Given the description of an element on the screen output the (x, y) to click on. 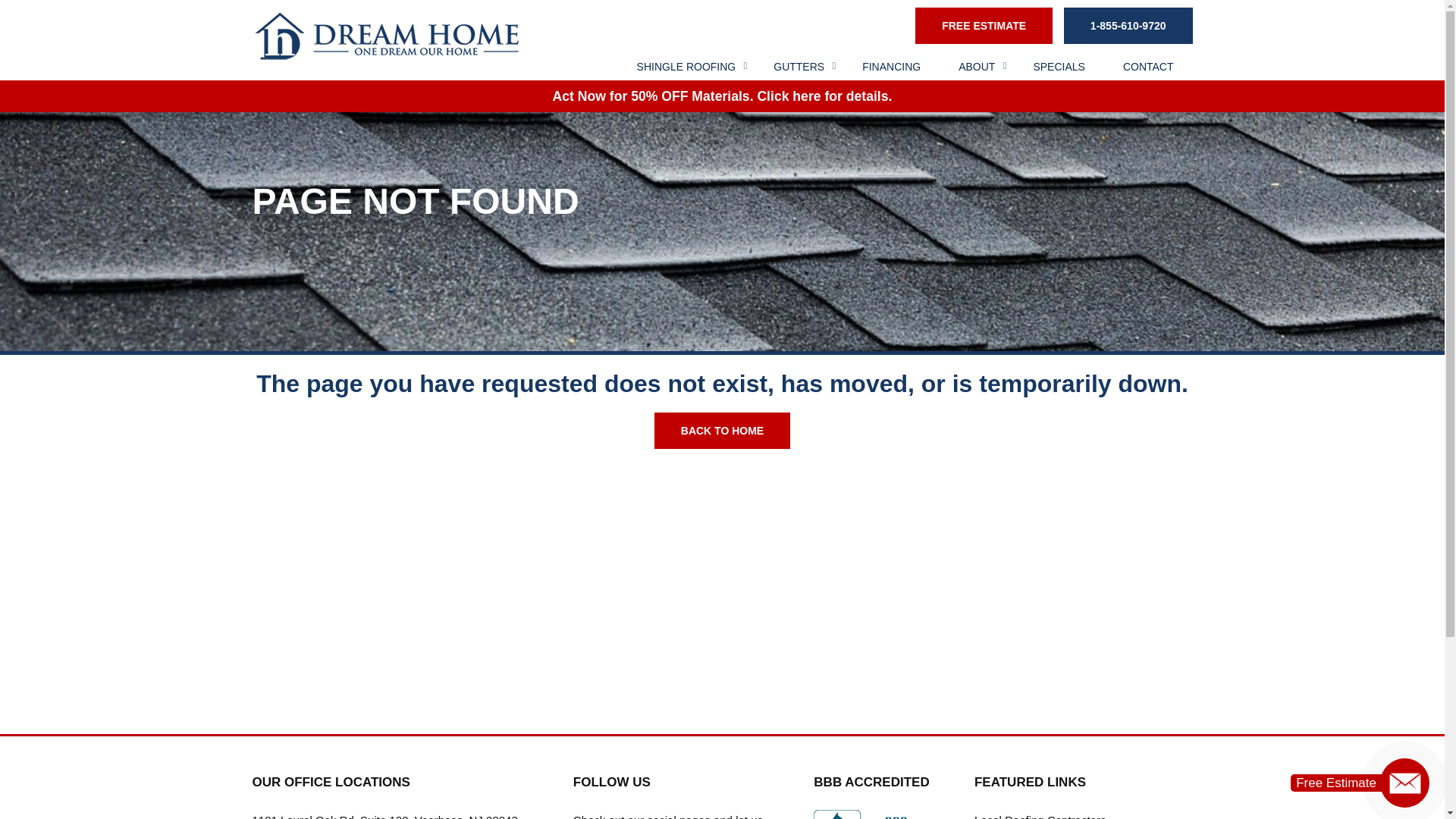
SPECIALS (1058, 66)
SHINGLE ROOFING (686, 66)
GUTTERS (798, 66)
FREE ESTIMATE (983, 25)
1-855-610-9720 (1128, 25)
FINANCING (891, 66)
ABOUT (976, 66)
